Given the description of an element on the screen output the (x, y) to click on. 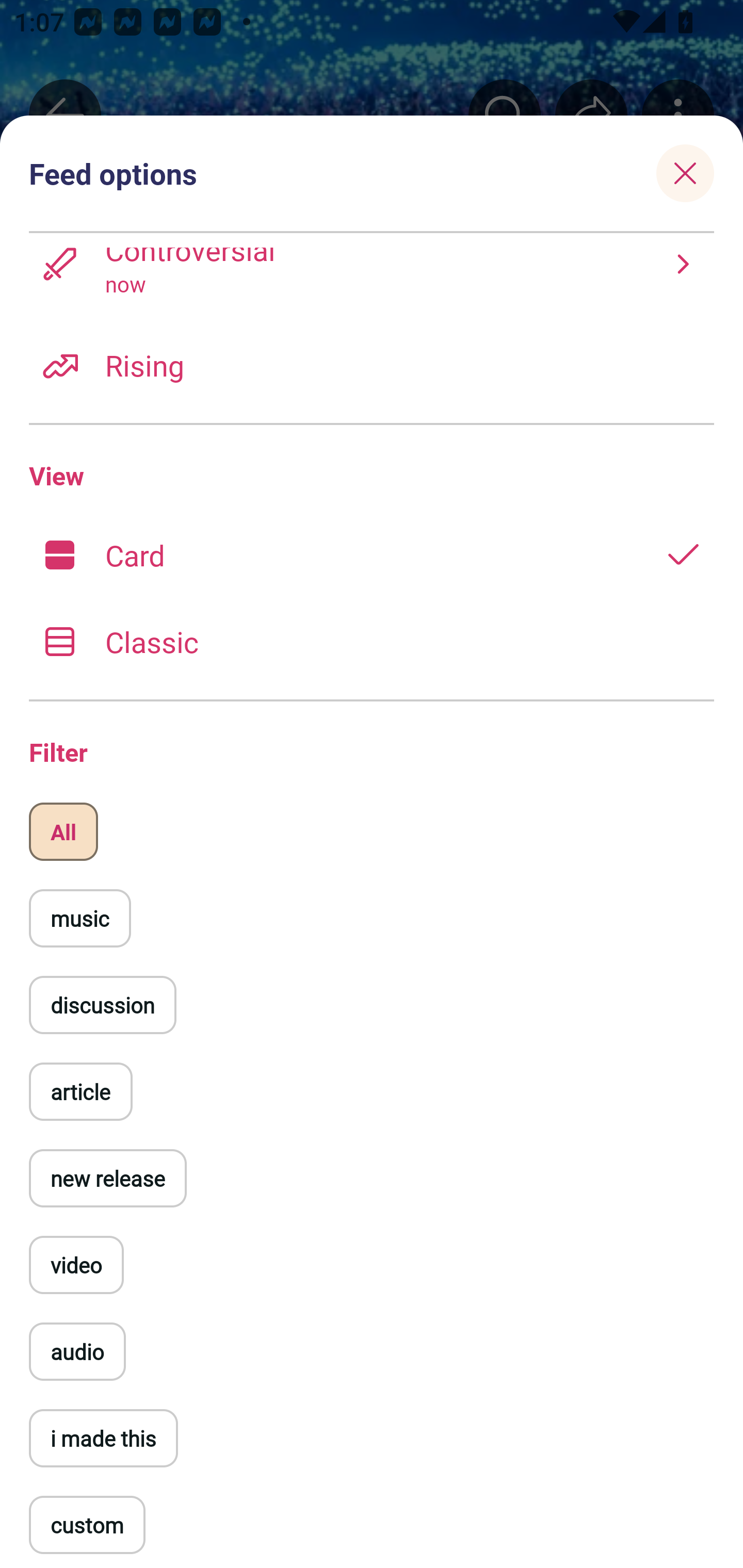
Close sheet (684, 166)
Controversial now (371, 284)
Rising (371, 365)
Card (371, 554)
Classic (371, 641)
All (63, 831)
music (79, 917)
discussion (102, 1004)
discussion (95, 1076)
new release (107, 1178)
video (76, 1264)
audio (76, 1351)
i made this (103, 1438)
custom (86, 1524)
